Given the description of an element on the screen output the (x, y) to click on. 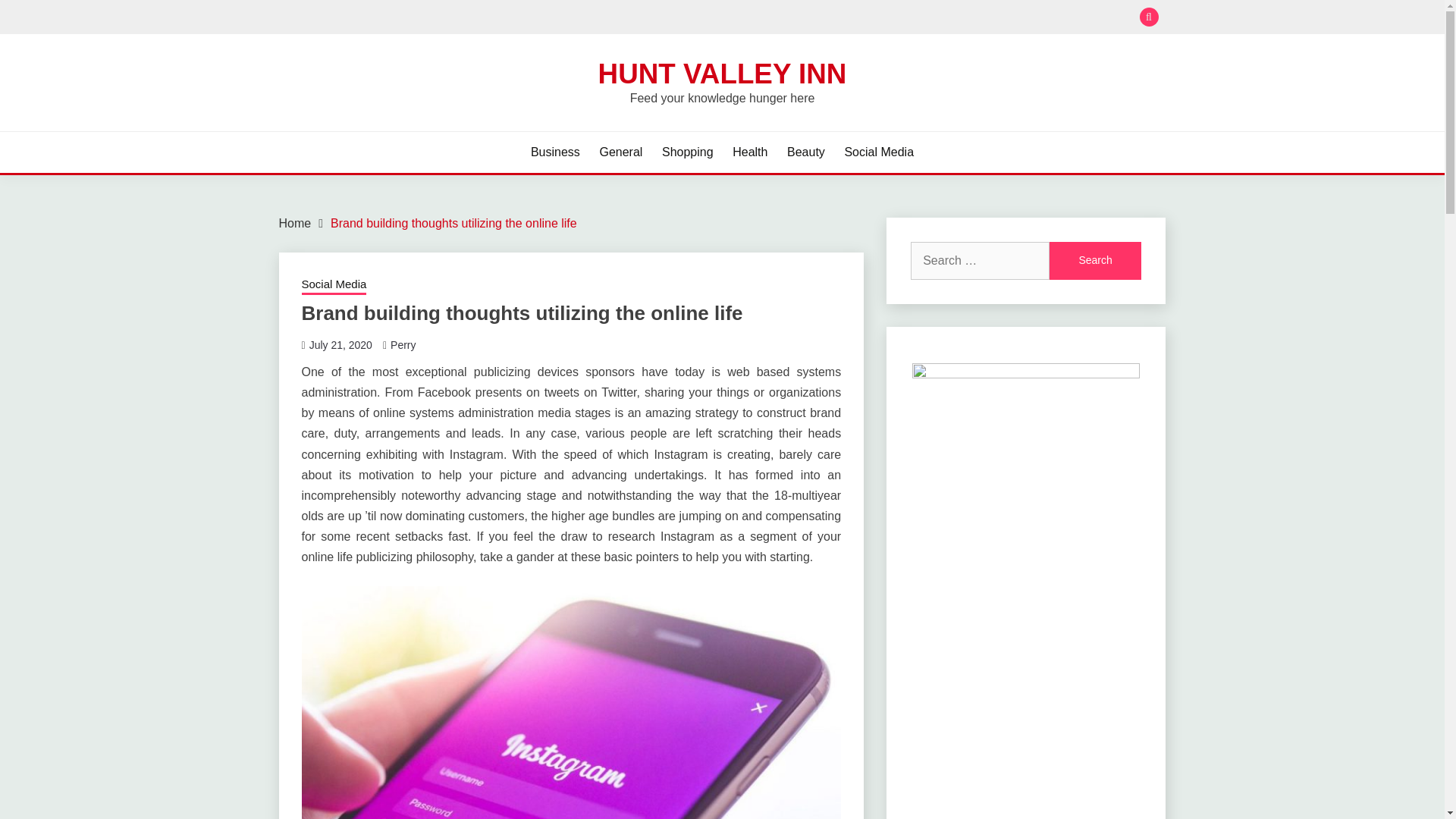
Business (555, 152)
Social Media (879, 152)
Search (832, 18)
Health (749, 152)
Home (295, 223)
Social Media (333, 285)
Beauty (806, 152)
General (620, 152)
Search (1095, 260)
Perry (402, 345)
HUNT VALLEY INN (722, 73)
Search (1095, 260)
Brand building thoughts utilizing the online life (453, 223)
Shopping (687, 152)
July 21, 2020 (340, 345)
